Given the description of an element on the screen output the (x, y) to click on. 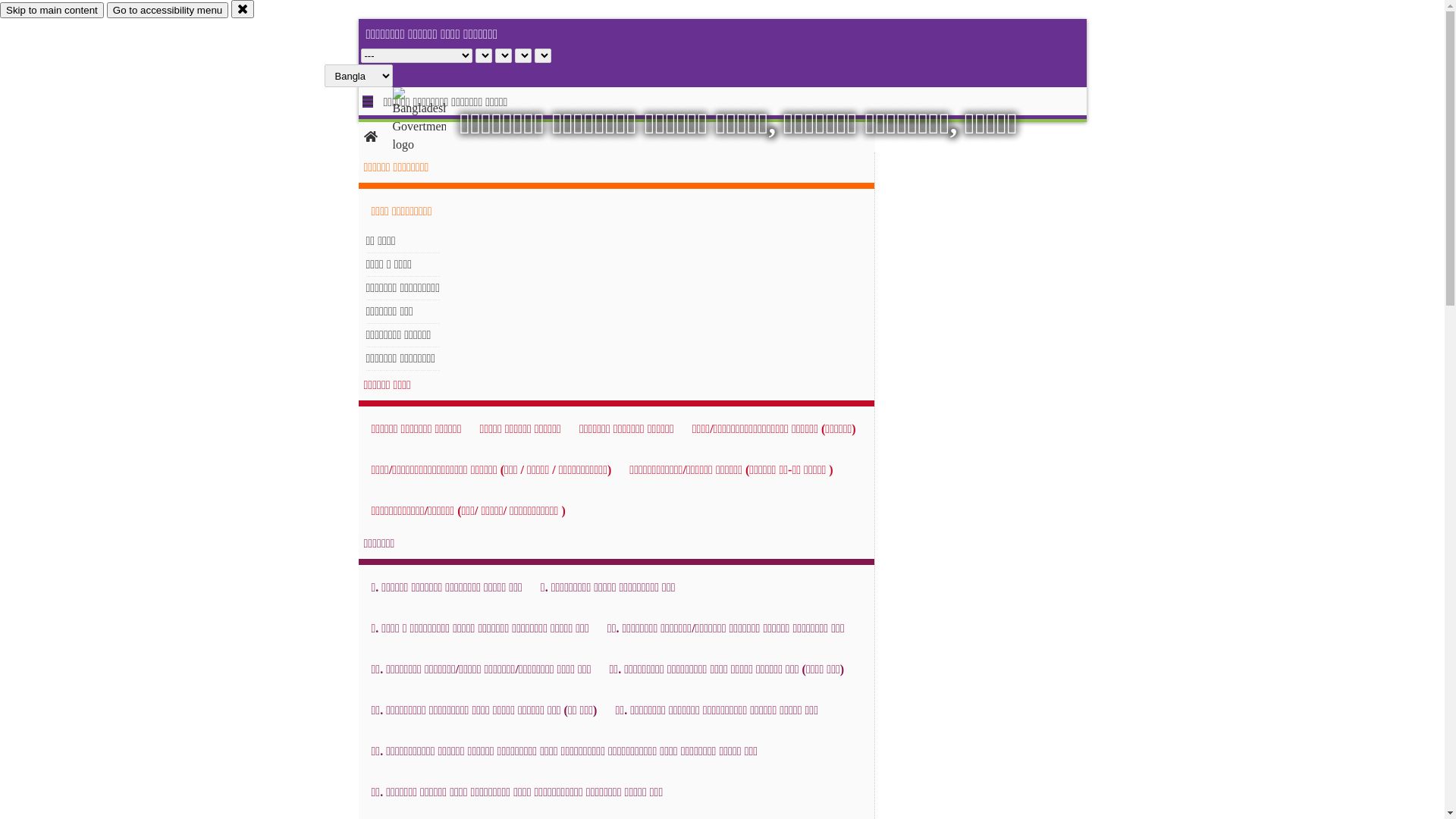

                
             Element type: hover (431, 120)
Go to accessibility menu Element type: text (167, 10)
Skip to main content Element type: text (51, 10)
close Element type: hover (242, 9)
